Given the description of an element on the screen output the (x, y) to click on. 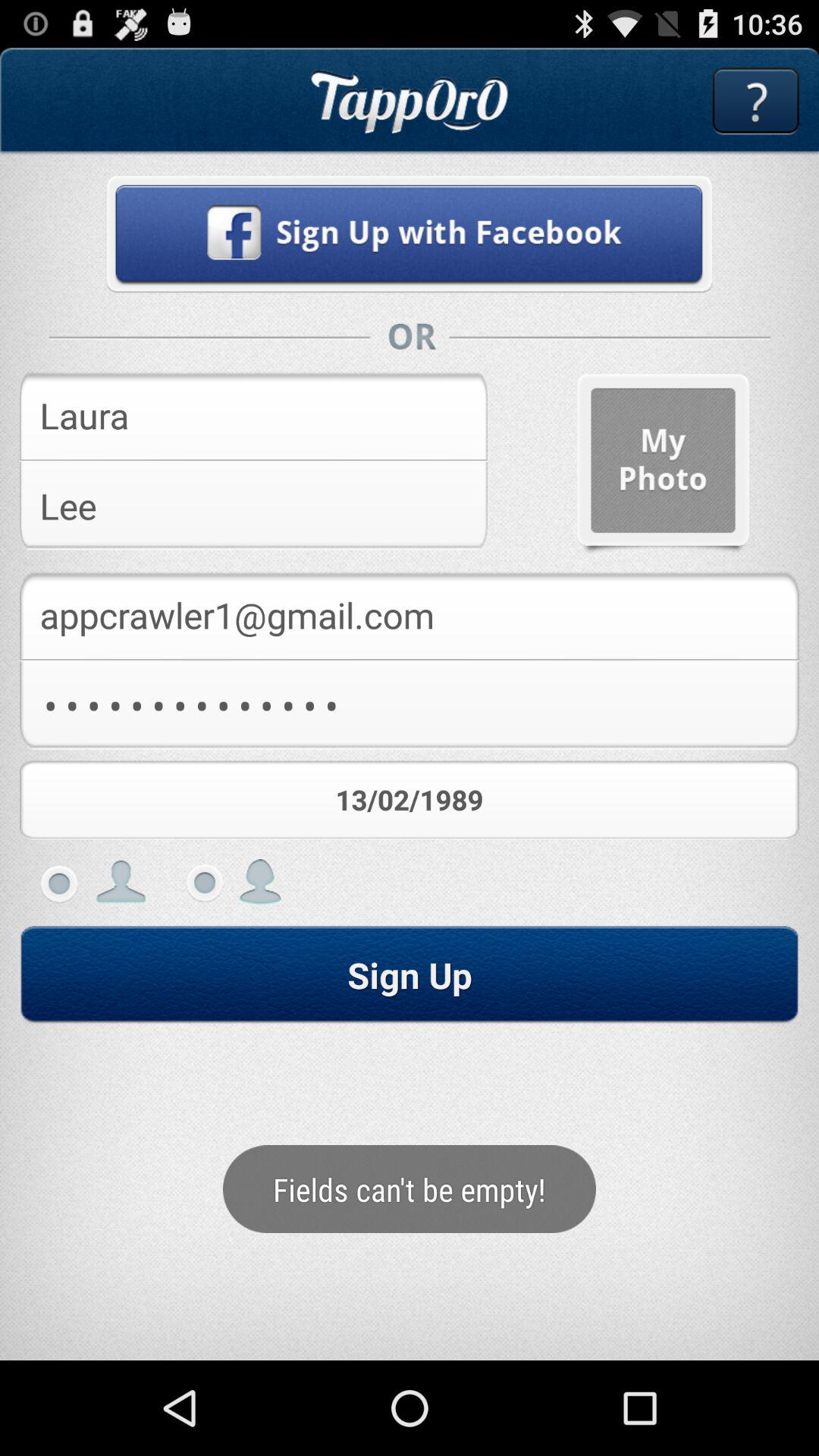
faq (755, 101)
